Given the description of an element on the screen output the (x, y) to click on. 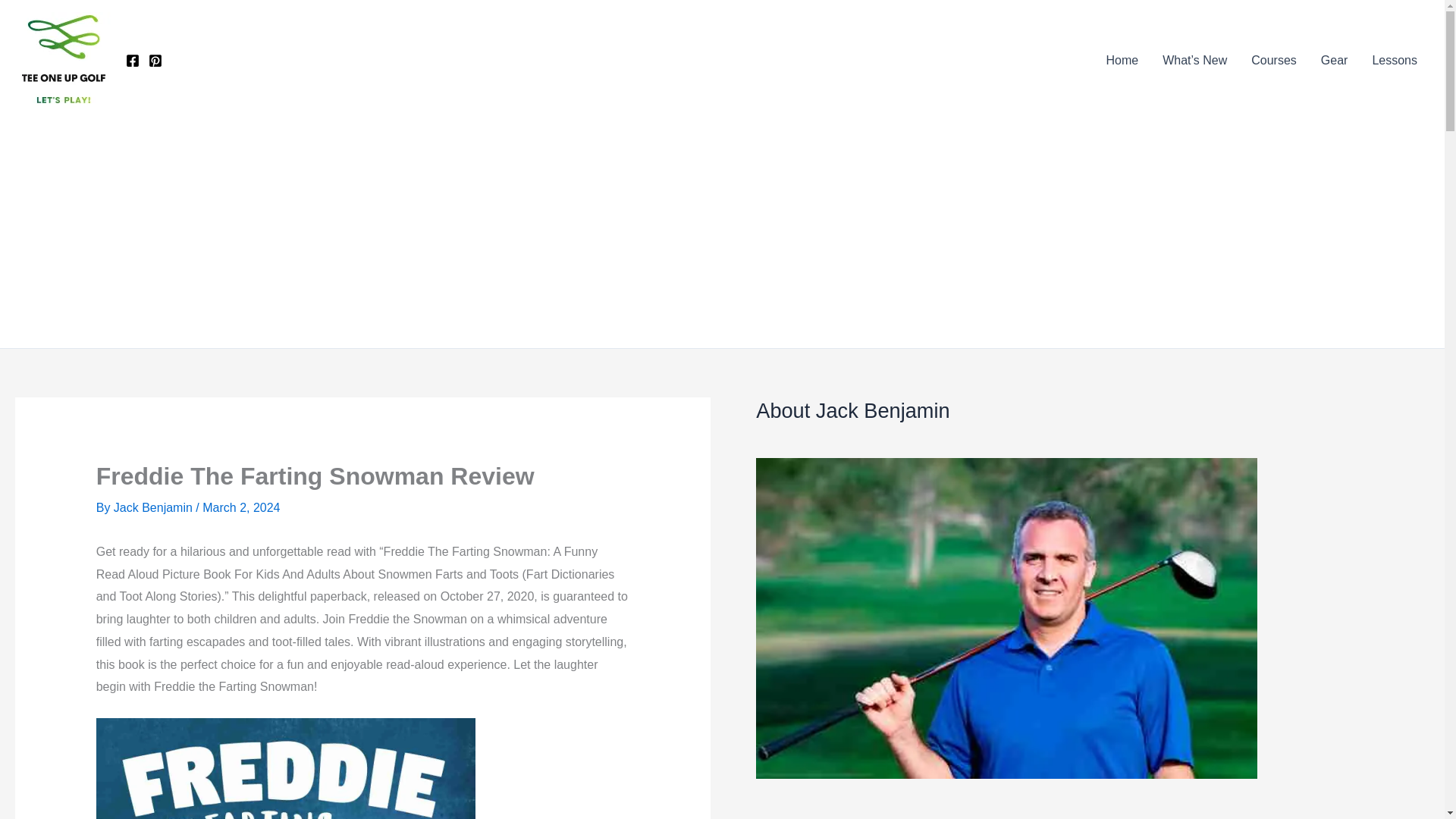
View all posts by Jack Benjamin (154, 507)
Home (1121, 60)
Lessons (1394, 60)
Jack Benjamin (154, 507)
Courses (1273, 60)
Gear (1333, 60)
